Given the description of an element on the screen output the (x, y) to click on. 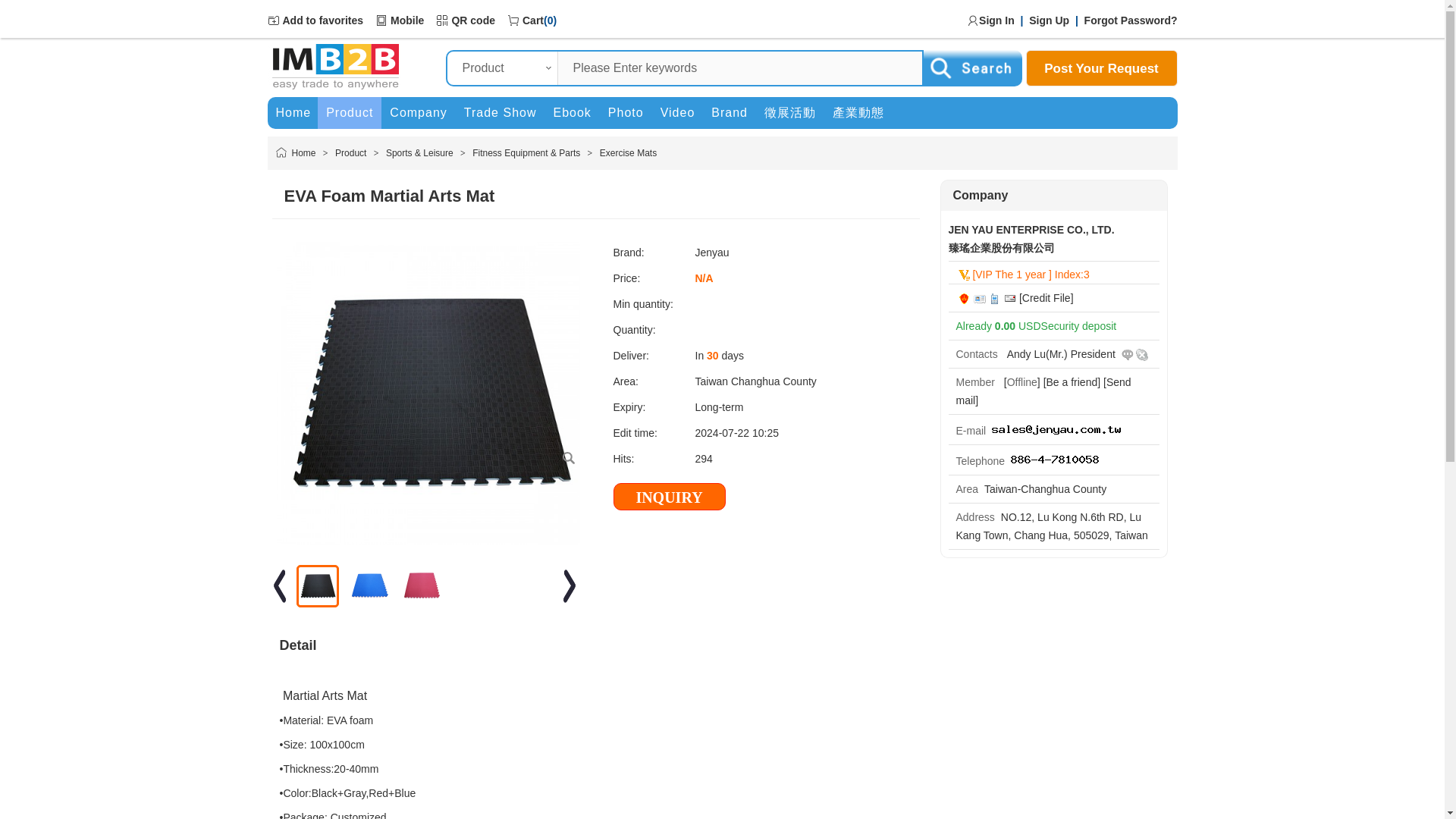
Home (303, 153)
QR code (473, 20)
Certified by E-mail (1010, 298)
INQUIRY (668, 496)
VIP:Level 3 (962, 275)
Product (350, 153)
Home (292, 112)
Please Enter keywords (739, 68)
Exercise Mats (627, 153)
Certified by Ture name (979, 298)
Trade Show (499, 112)
